Given the description of an element on the screen output the (x, y) to click on. 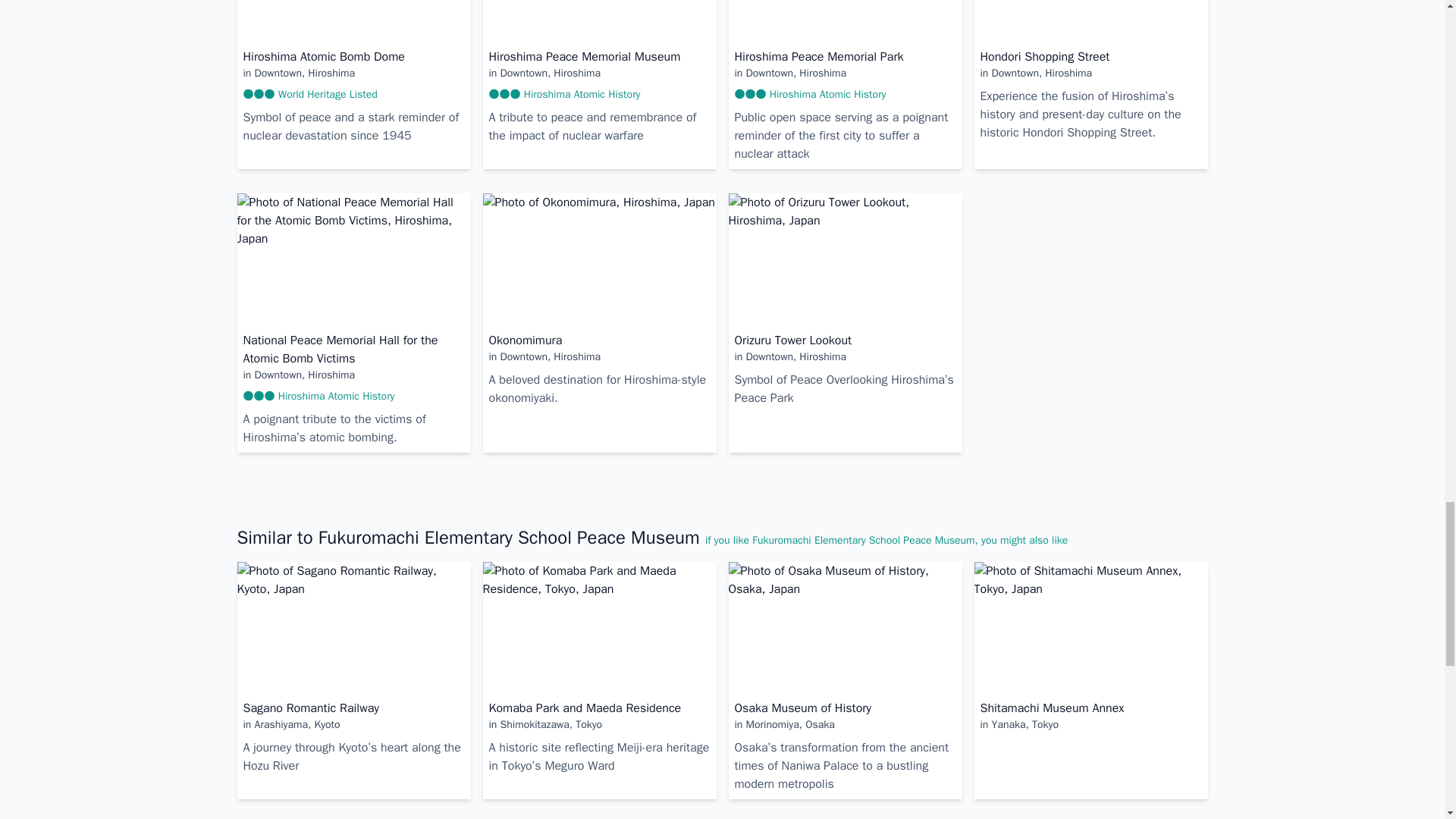
Hiroshima (822, 72)
Hiroshima Atomic Bomb Dome (323, 56)
Downtown (523, 72)
Hiroshima Peace Memorial Museum (583, 56)
Hiroshima (576, 72)
Hiroshima (331, 72)
Hiroshima Peace Memorial Park (817, 56)
Downtown (277, 72)
Hondori Shopping Street (1044, 56)
Downtown (769, 72)
